Given the description of an element on the screen output the (x, y) to click on. 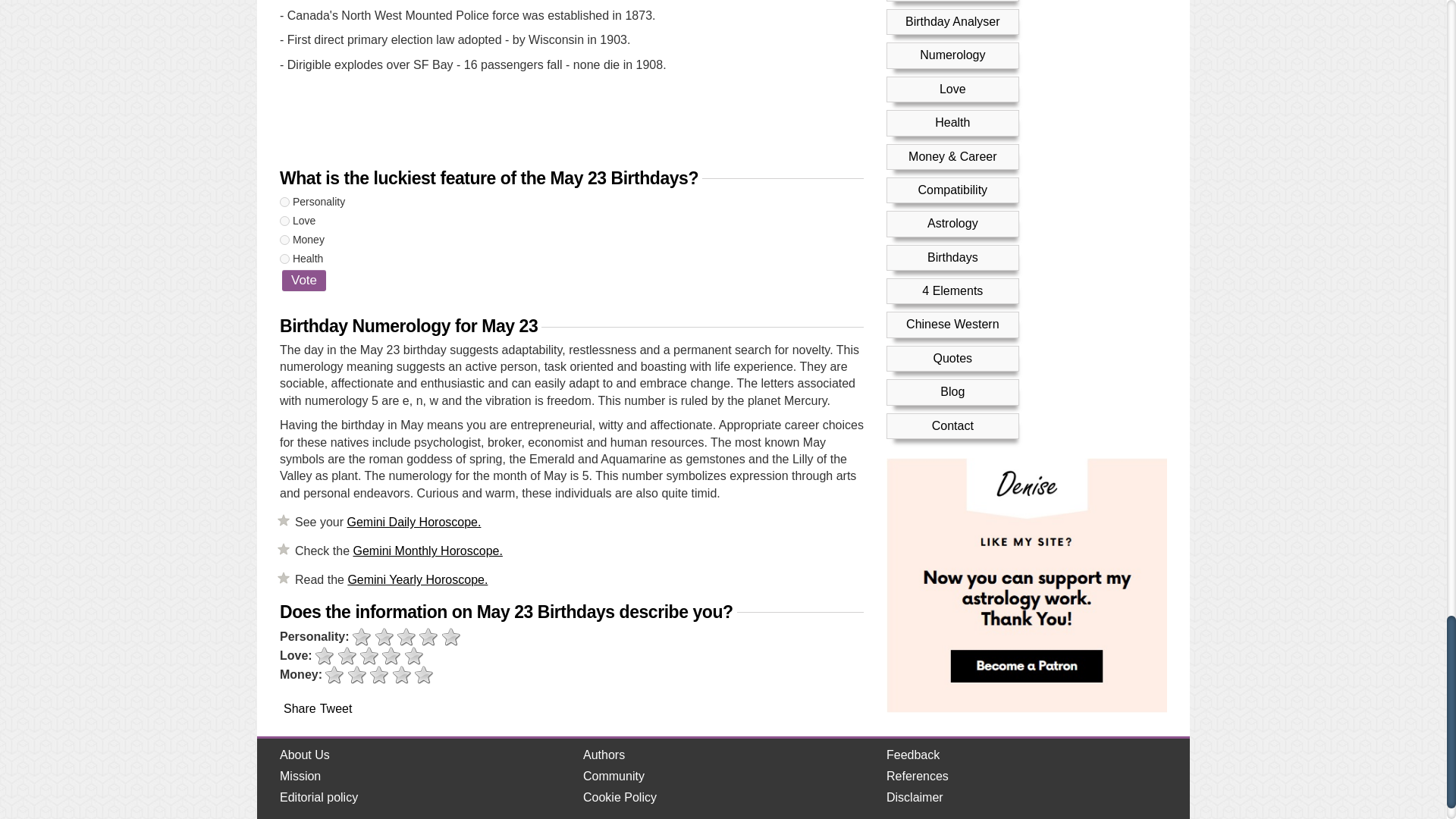
Somewhat (346, 656)
Average (406, 637)
Not at All (324, 656)
q2 (284, 221)
Gemini August 2024 Monthly Horoscope (427, 550)
q1 (284, 202)
Very Good (451, 637)
Very Good (413, 656)
Gemini Daily Horoscope (413, 521)
Good (391, 656)
Gemini Horoscope 2025: Key Yearly Predictions (417, 579)
Advertisement (571, 122)
Vote (304, 280)
q4 (284, 258)
Good (428, 637)
